Given the description of an element on the screen output the (x, y) to click on. 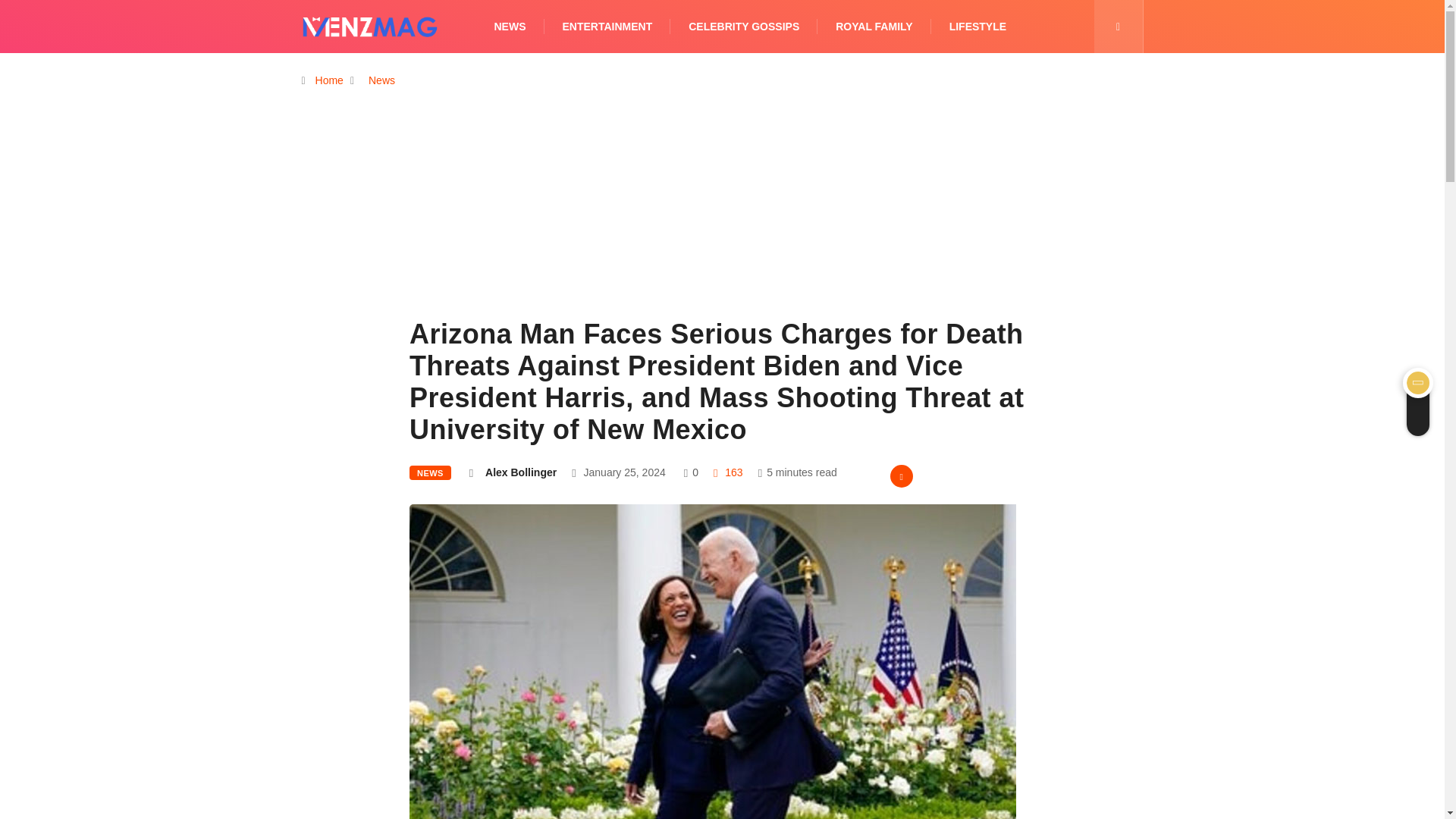
ENTERTAINMENT (607, 26)
ROYAL FAMILY (873, 26)
Advertisement (722, 228)
Alex Bollinger (520, 472)
News (381, 80)
LIFESTYLE (977, 26)
NEWS (430, 472)
Home (329, 80)
CELEBRITY GOSSIPS (743, 26)
popup modal for search (1117, 26)
